Given the description of an element on the screen output the (x, y) to click on. 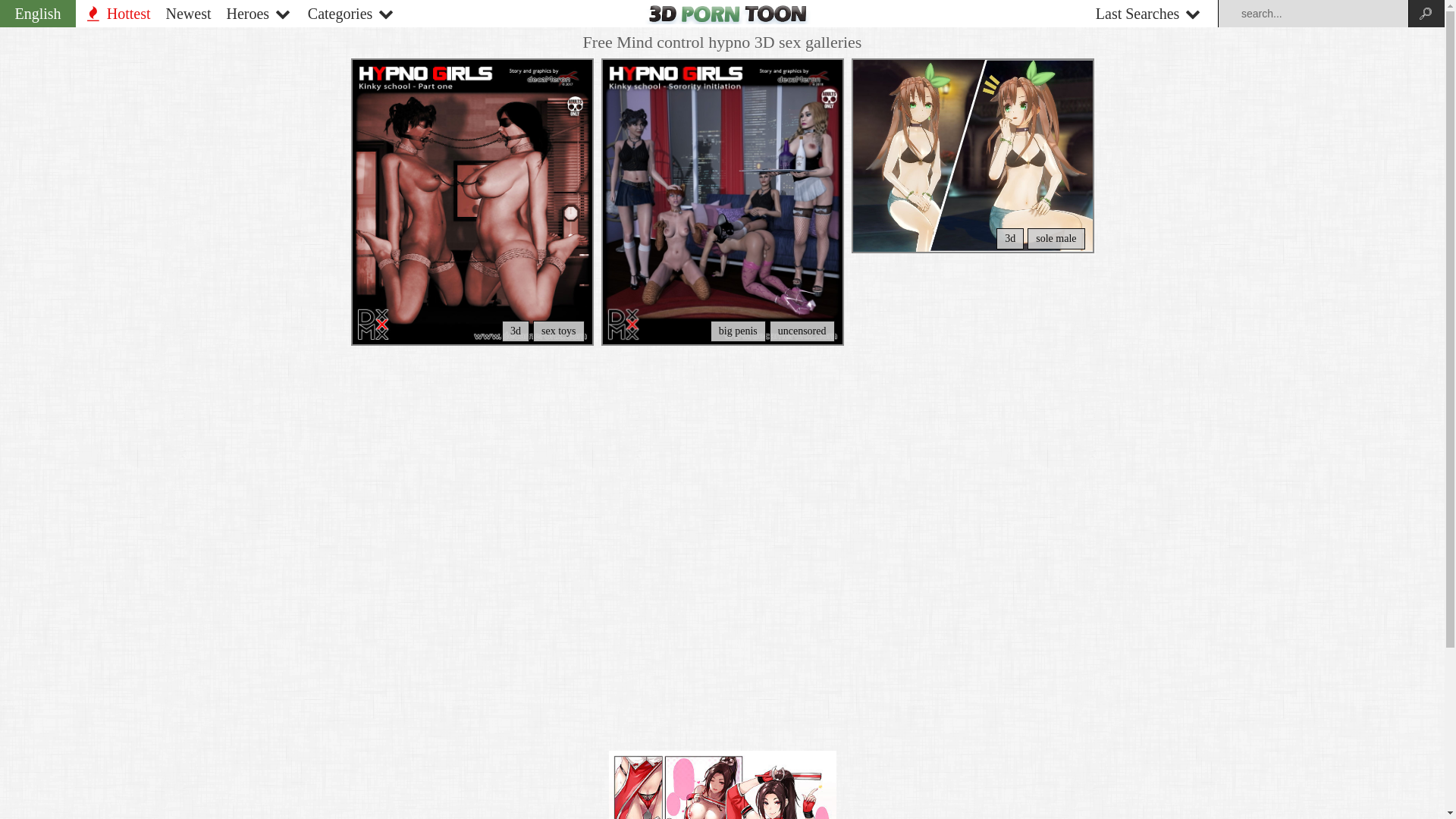
IFs hypno encounterCM3D2 Element type: hover (972, 155)
Newest Element type: text (187, 13)
3d Element type: text (515, 331)
Hypno Girls 7 - Freakish School: Accouterment Team a few Element type: hover (471, 201)
Hottest Element type: text (116, 13)
uncensored Element type: text (801, 331)
big penis Element type: text (737, 331)
sex toys Element type: text (558, 331)
sole male Element type: text (1055, 238)
3d Element type: text (1009, 238)
